Given the description of an element on the screen output the (x, y) to click on. 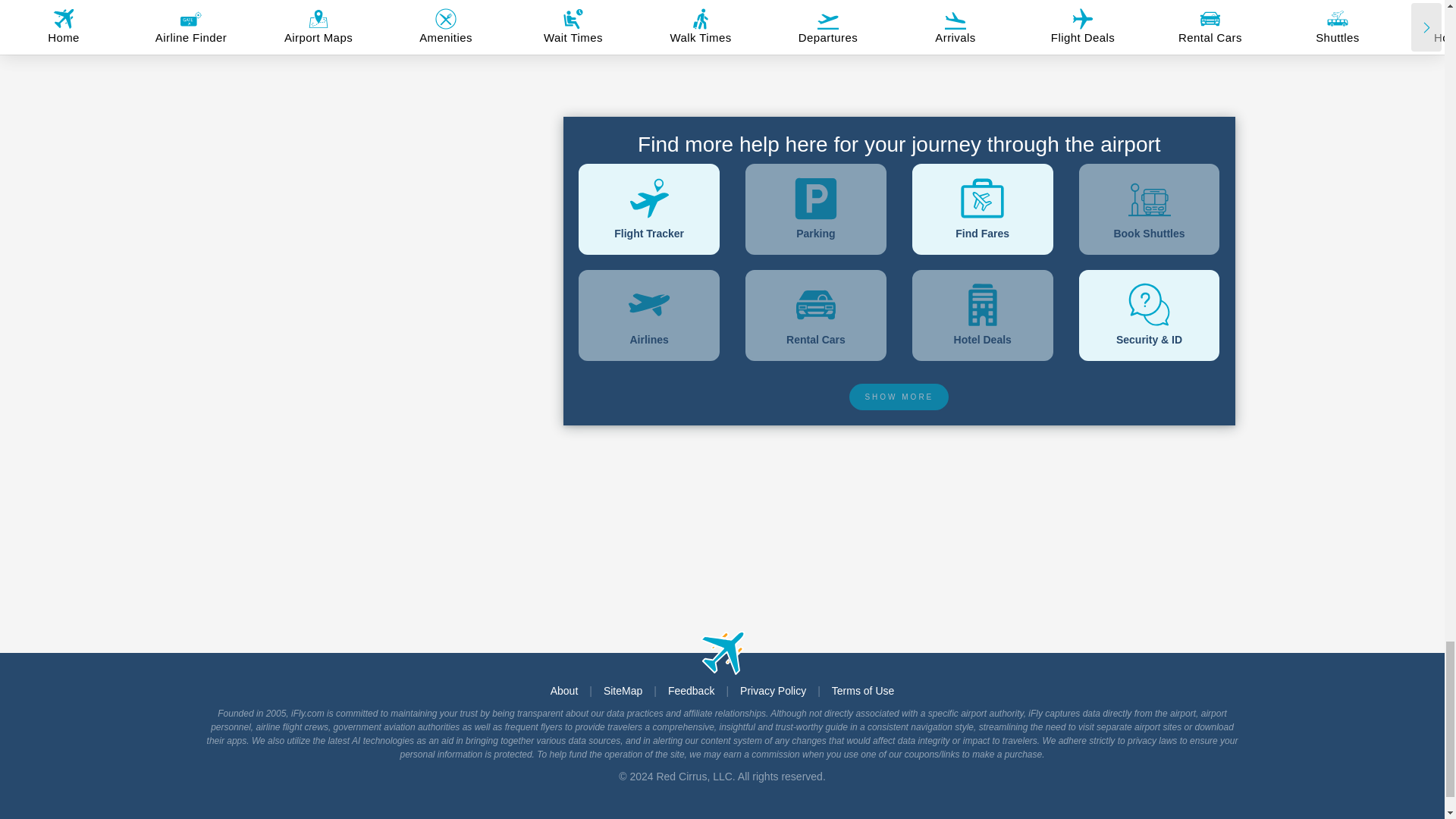
show more (898, 397)
